Given the description of an element on the screen output the (x, y) to click on. 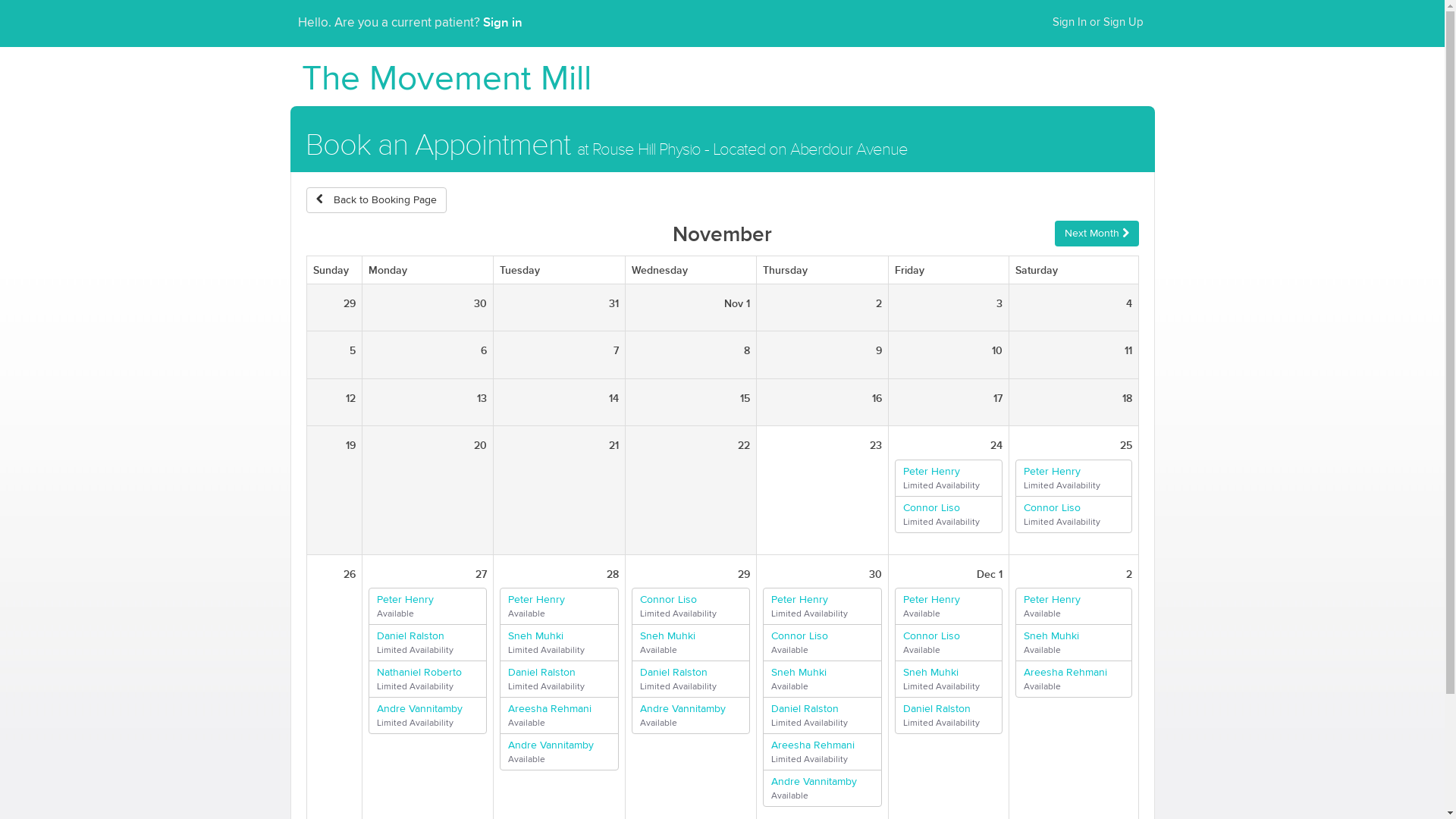
Peter Henry
Available Element type: text (427, 605)
Back to Booking Page Element type: text (376, 200)
Nathaniel Roberto
Limited Availability Element type: text (427, 678)
Sneh Muhki
Limited Availability Element type: text (948, 678)
Connor Liso
Limited Availability Element type: text (1073, 514)
Sign in Element type: text (501, 22)
Andre Vannitamby
Available Element type: text (558, 751)
Peter Henry
Limited Availability Element type: text (821, 605)
Next Month Element type: text (1096, 233)
Daniel Ralston
Limited Availability Element type: text (427, 642)
Areesha Rehmani
Available Element type: text (558, 715)
Sign In or Sign Up Element type: text (1097, 22)
Sneh Muhki
Available Element type: text (690, 642)
Peter Henry
Available Element type: text (948, 605)
Andre Vannitamby
Limited Availability Element type: text (427, 715)
The Movement Mill Element type: text (446, 79)
Andre Vannitamby
Available Element type: text (690, 715)
Connor Liso
Limited Availability Element type: text (690, 605)
Daniel Ralston
Limited Availability Element type: text (821, 715)
Connor Liso
Available Element type: text (948, 642)
Areesha Rehmani
Available Element type: text (1073, 678)
Connor Liso
Available Element type: text (821, 642)
Peter Henry
Available Element type: text (558, 605)
Areesha Rehmani
Limited Availability Element type: text (821, 751)
Peter Henry
Limited Availability Element type: text (948, 477)
Andre Vannitamby
Available Element type: text (821, 787)
Peter Henry
Limited Availability Element type: text (1073, 477)
Peter Henry
Available Element type: text (1073, 605)
Daniel Ralston
Limited Availability Element type: text (948, 715)
Daniel Ralston
Limited Availability Element type: text (690, 678)
Sneh Muhki
Available Element type: text (1073, 642)
Sneh Muhki
Limited Availability Element type: text (558, 642)
Sneh Muhki
Available Element type: text (821, 678)
Daniel Ralston
Limited Availability Element type: text (558, 678)
Connor Liso
Limited Availability Element type: text (948, 514)
